Given the description of an element on the screen output the (x, y) to click on. 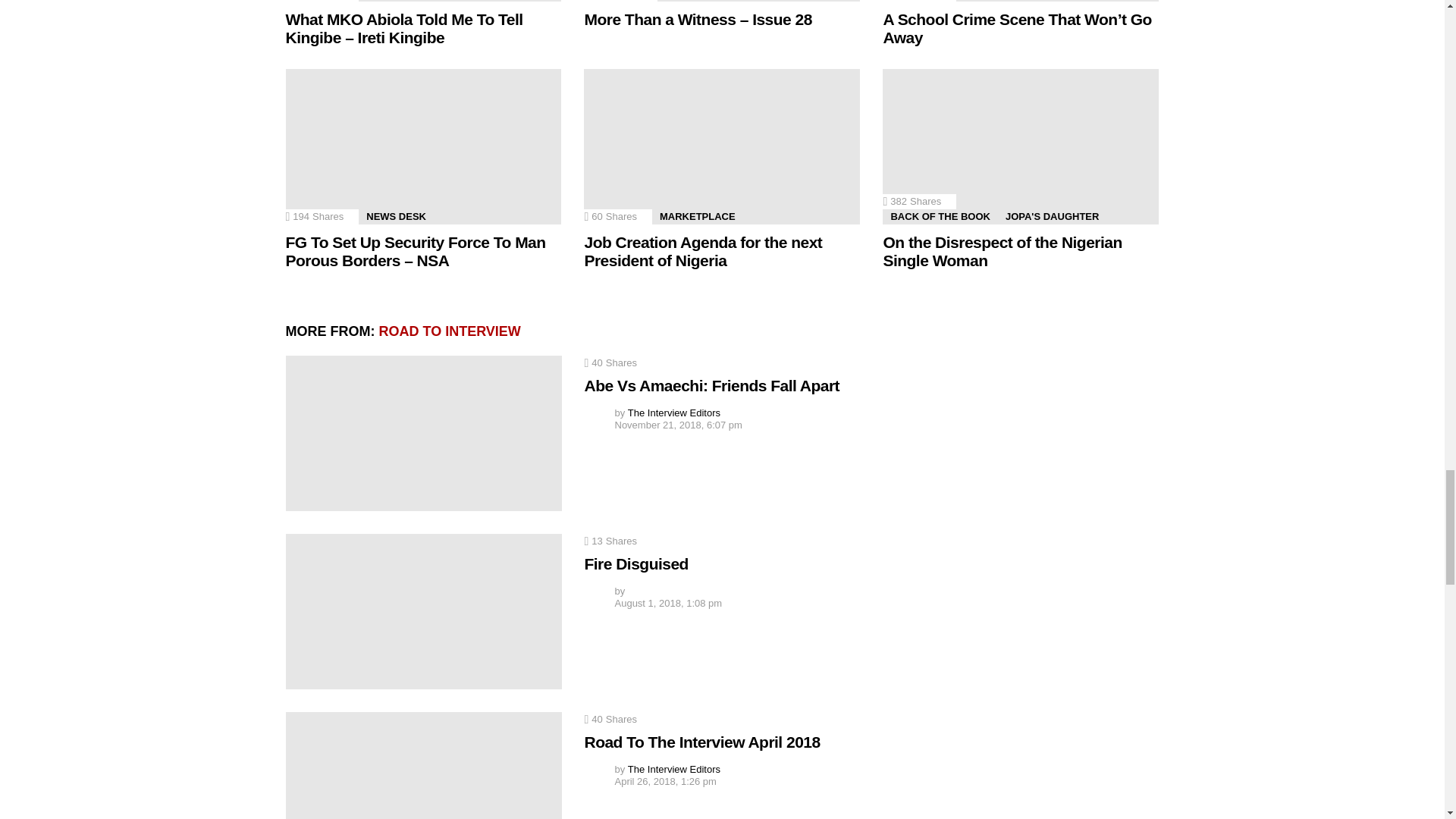
Fire Disguised (422, 611)
Road To The Interview April 2018 (422, 765)
Posts by The Interview Editors (673, 412)
Job Creation Agenda for the next President of Nigeria (721, 146)
Posts by The Interview Editors (673, 768)
On the Disrespect of the Nigerian Single Woman (1020, 146)
Abe Vs Amaechi: Friends Fall Apart (422, 433)
